Given the description of an element on the screen output the (x, y) to click on. 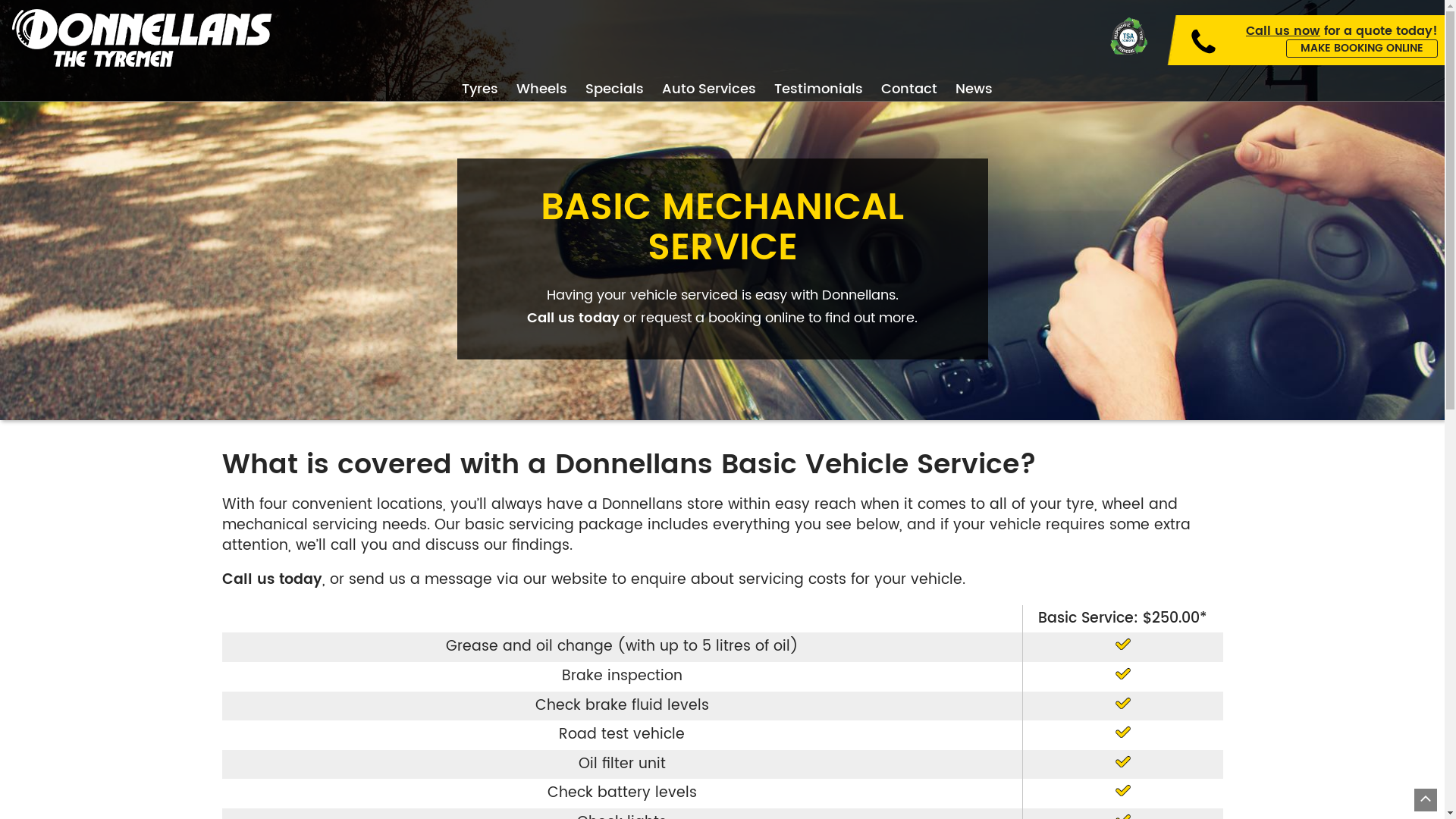
Call us now for a
quote today! Element type: text (1341, 30)
Testimonials Element type: text (817, 89)
Tyres Element type: text (478, 89)
Contact Element type: text (909, 89)
Call us today Element type: text (573, 318)
MAKE BOOKING ONLINE Element type: text (1361, 48)
Call us today Element type: text (271, 579)
Auto Services Element type: text (708, 89)
News Element type: text (969, 89)
Specials Element type: text (614, 89)
Wheels Element type: text (540, 89)
